Given the description of an element on the screen output the (x, y) to click on. 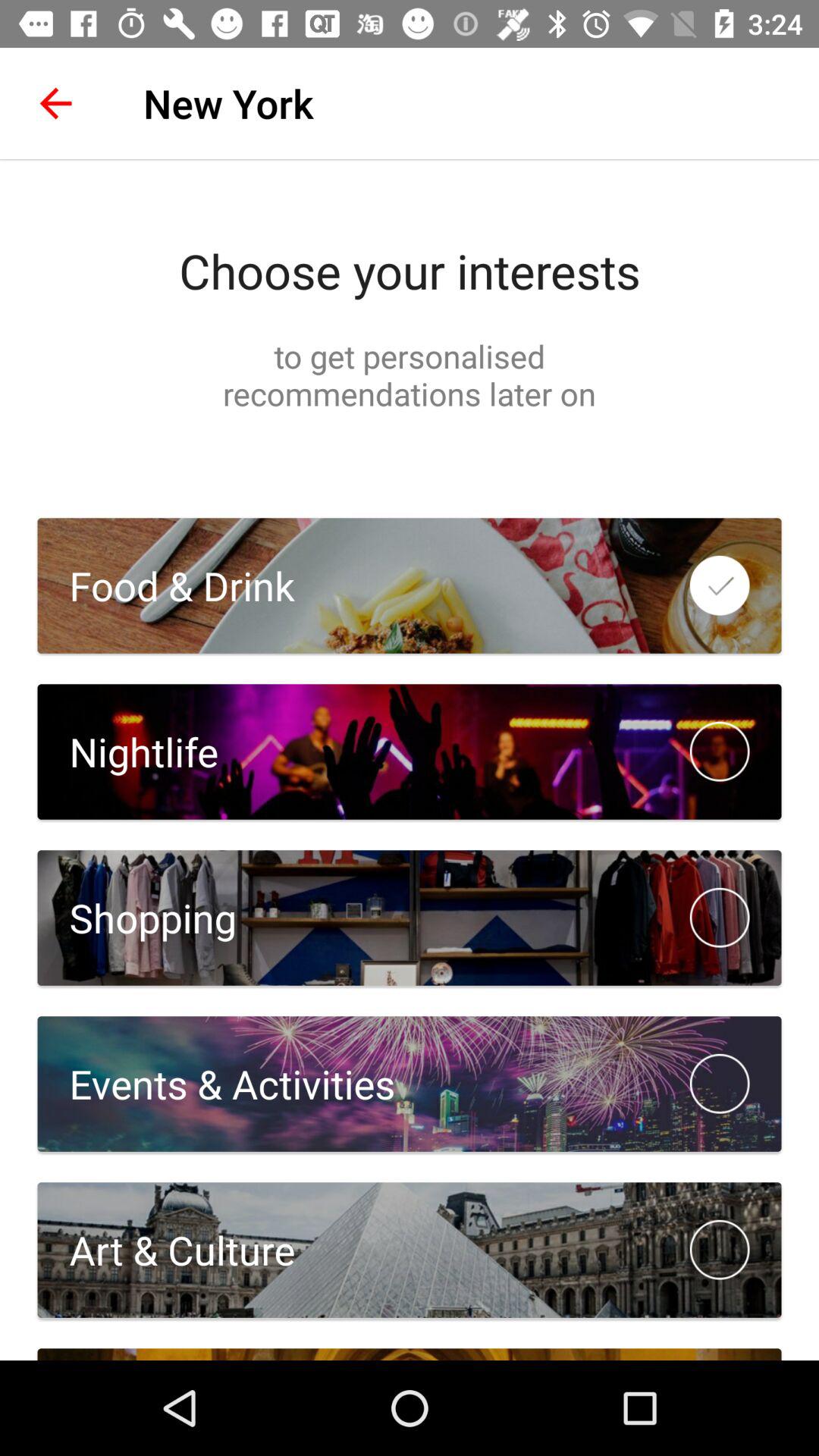
select art & culture icon (166, 1249)
